Given the description of an element on the screen output the (x, y) to click on. 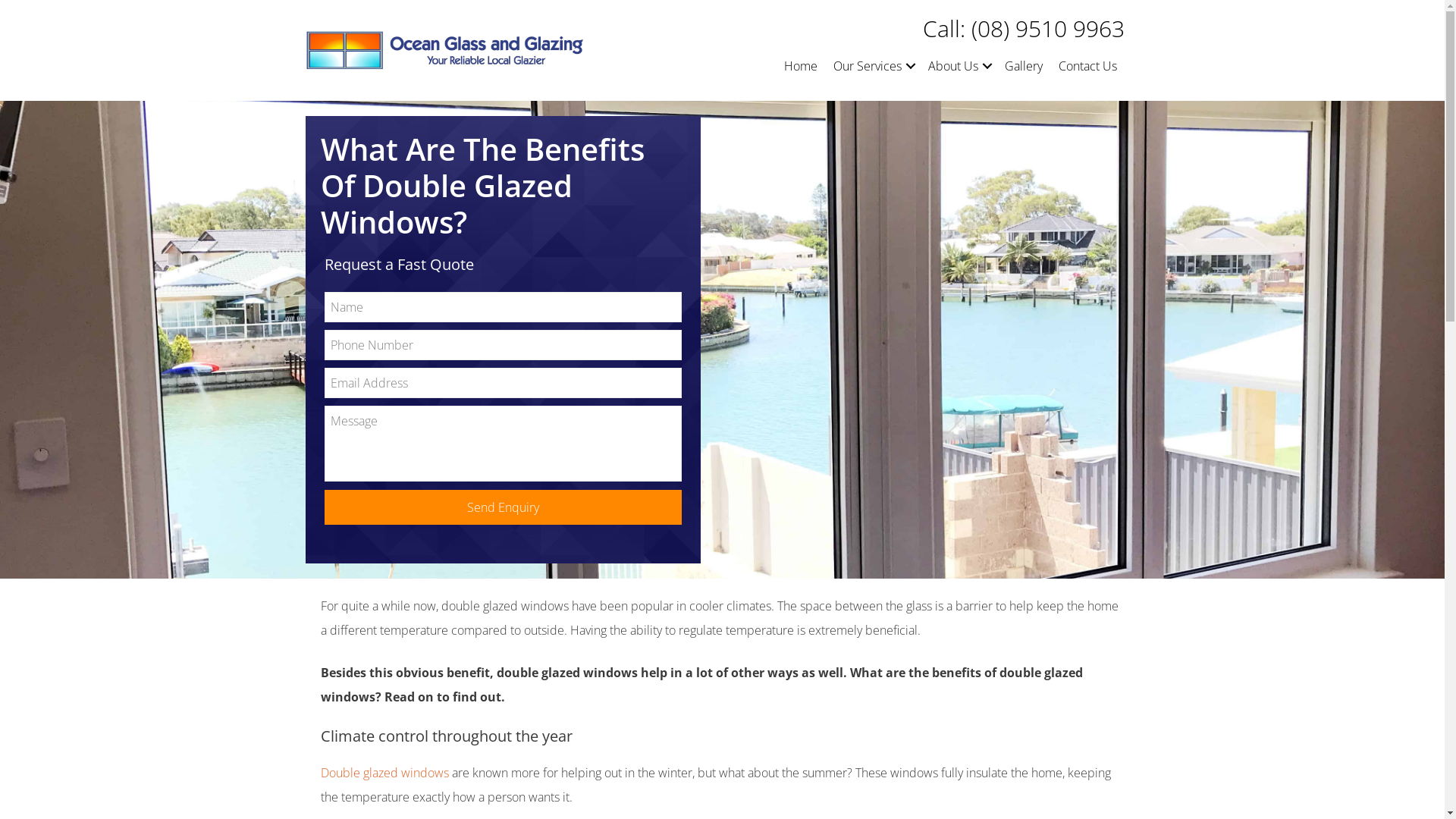
Send Enquiry Element type: text (503, 506)
logo-oceanglassandglazing Element type: hover (445, 49)
Contact Us Element type: text (1087, 65)
Call: (08) 9510 9963 Element type: text (1023, 27)
Our Services Element type: text (872, 65)
Home Element type: text (800, 65)
Gallery Element type: text (1023, 65)
About Us Element type: text (958, 65)
Double glazed windows Element type: text (384, 772)
